Given the description of an element on the screen output the (x, y) to click on. 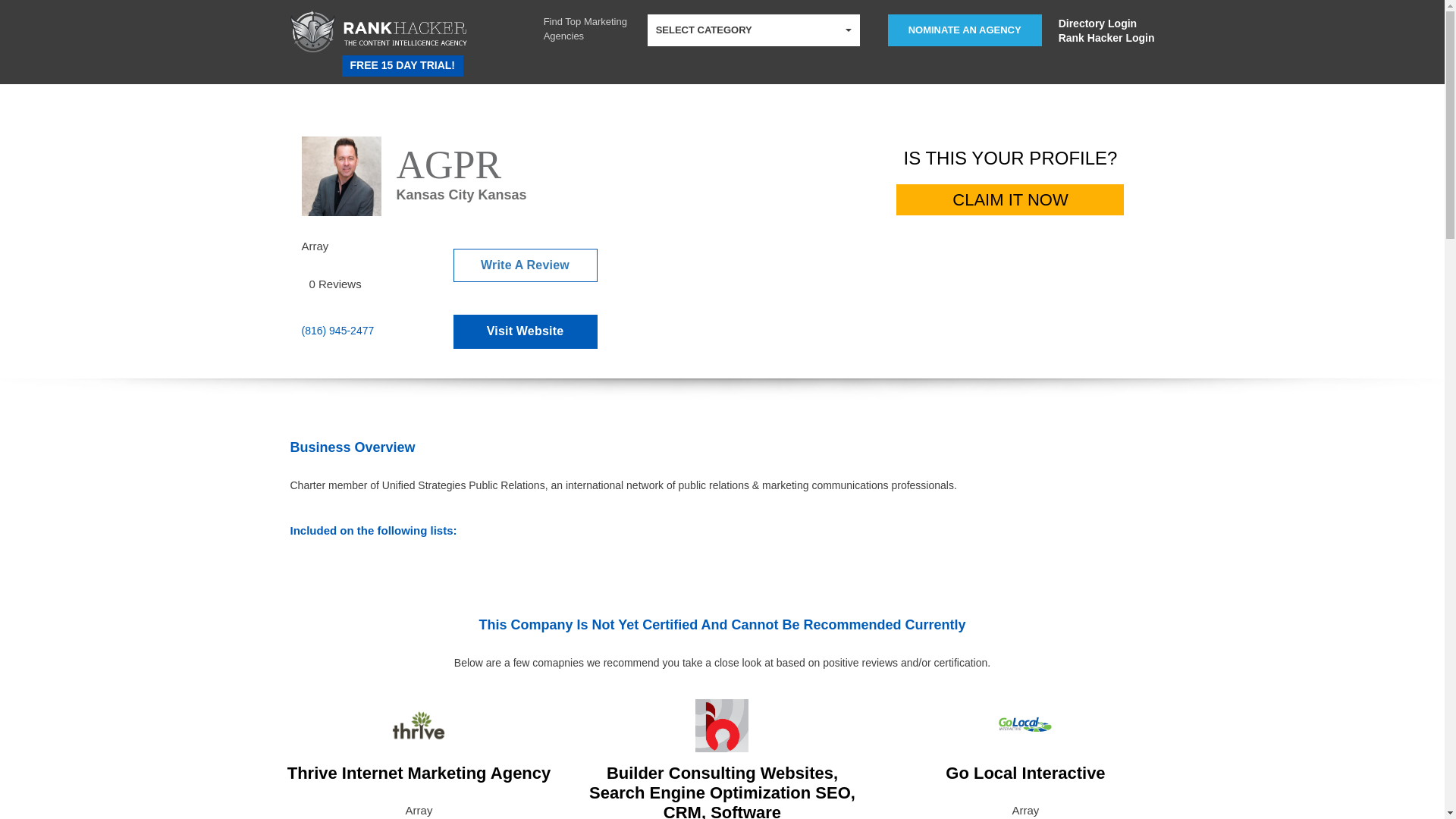
Write A Review (524, 265)
NOMINATE AN AGENCY (965, 29)
Rank Hacker Login (1106, 37)
CLAIM IT NOW (1010, 199)
Rank Hacker Directory (342, 61)
Visit Website (524, 331)
SELECT CATEGORY (753, 29)
Directory Login (1106, 23)
FREE 15 DAY TRIAL! (401, 65)
